Given the description of an element on the screen output the (x, y) to click on. 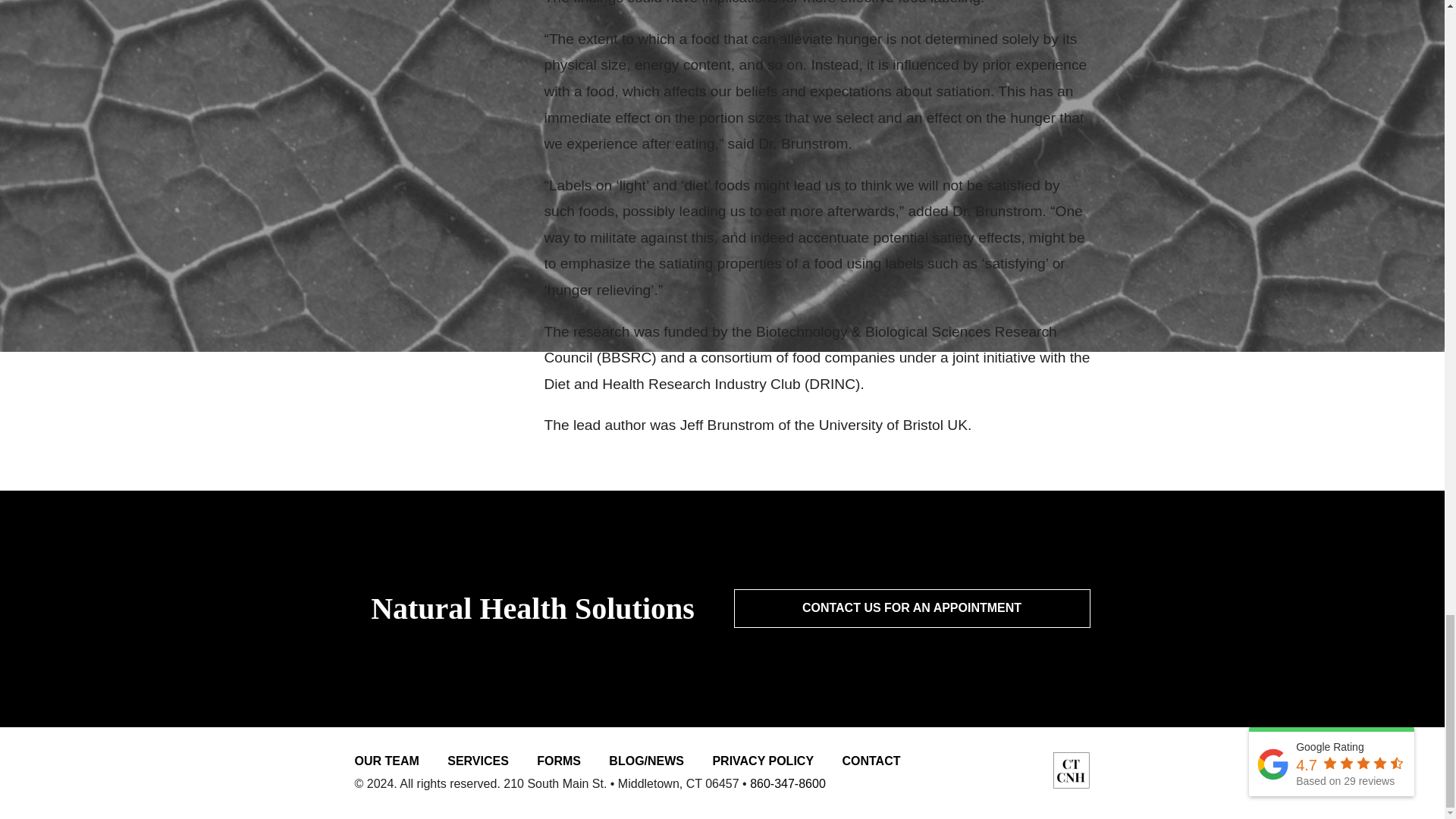
OUR TEAM (387, 760)
CONTACT (870, 760)
PRIVACY POLICY (762, 760)
860-347-8600 (787, 783)
SERVICES (477, 760)
CONTACT US FOR AN APPOINTMENT (911, 608)
FORMS (558, 760)
